Given the description of an element on the screen output the (x, y) to click on. 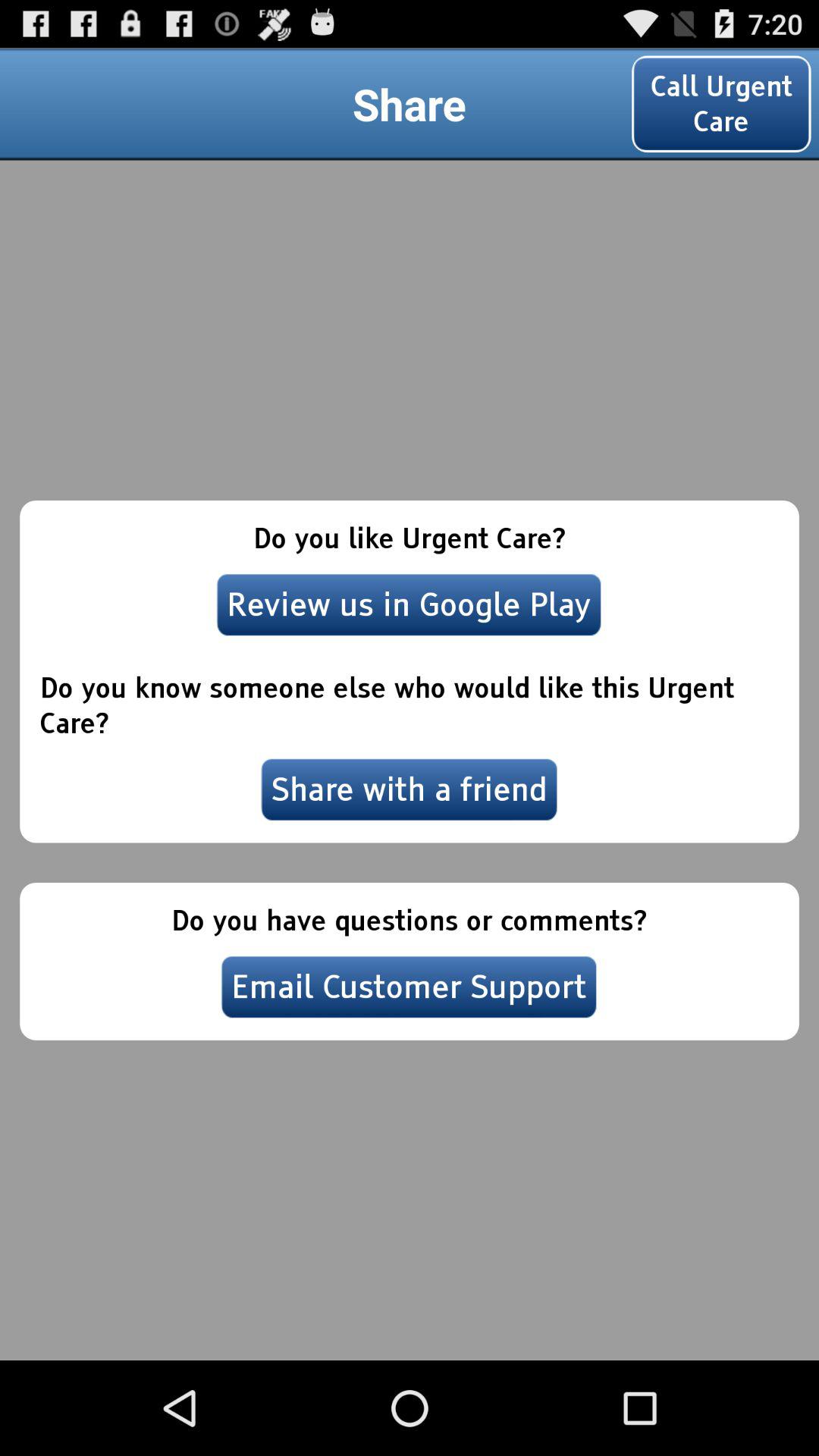
choose the review us in icon (408, 604)
